Given the description of an element on the screen output the (x, y) to click on. 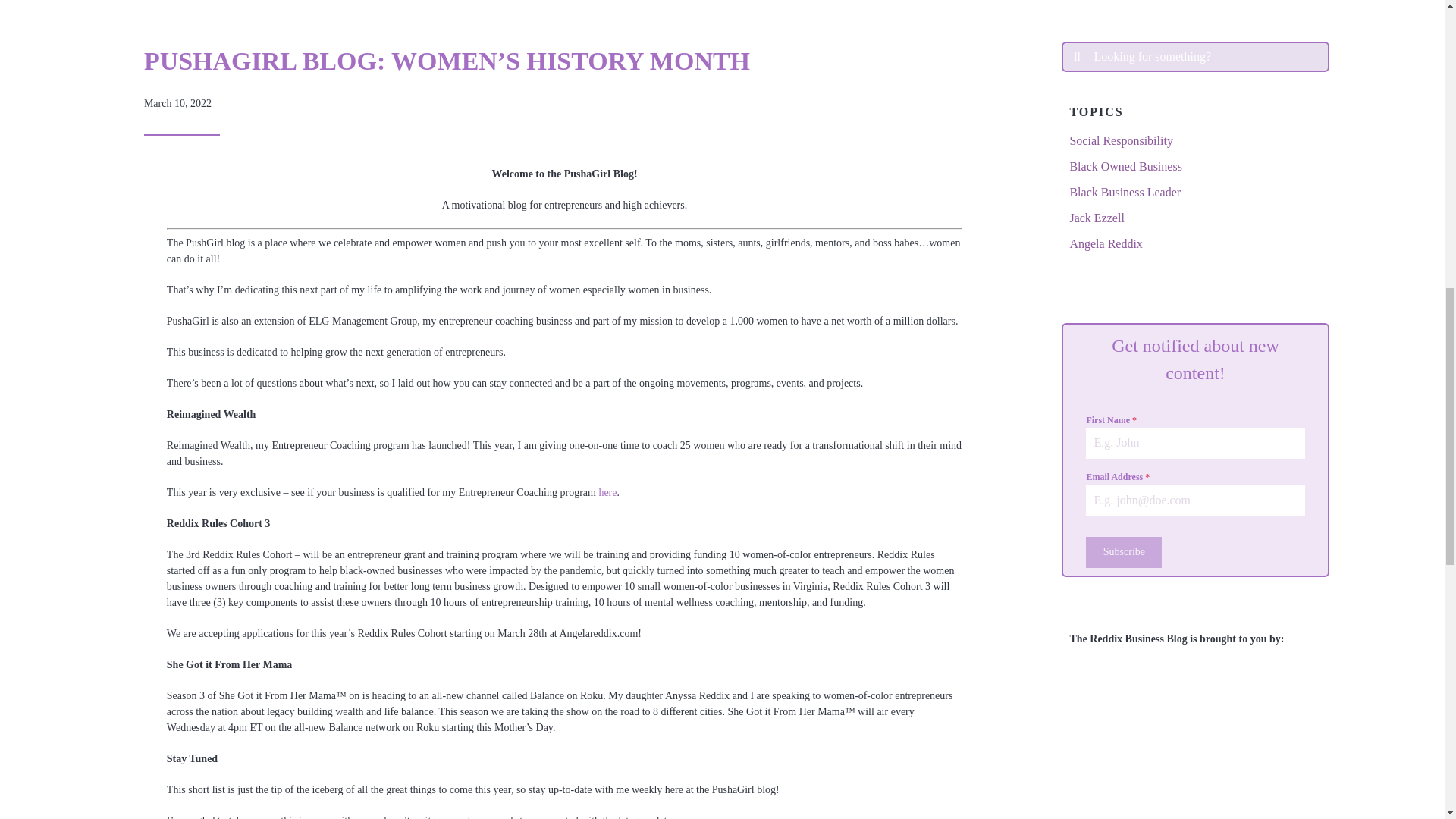
here (606, 491)
